Given the description of an element on the screen output the (x, y) to click on. 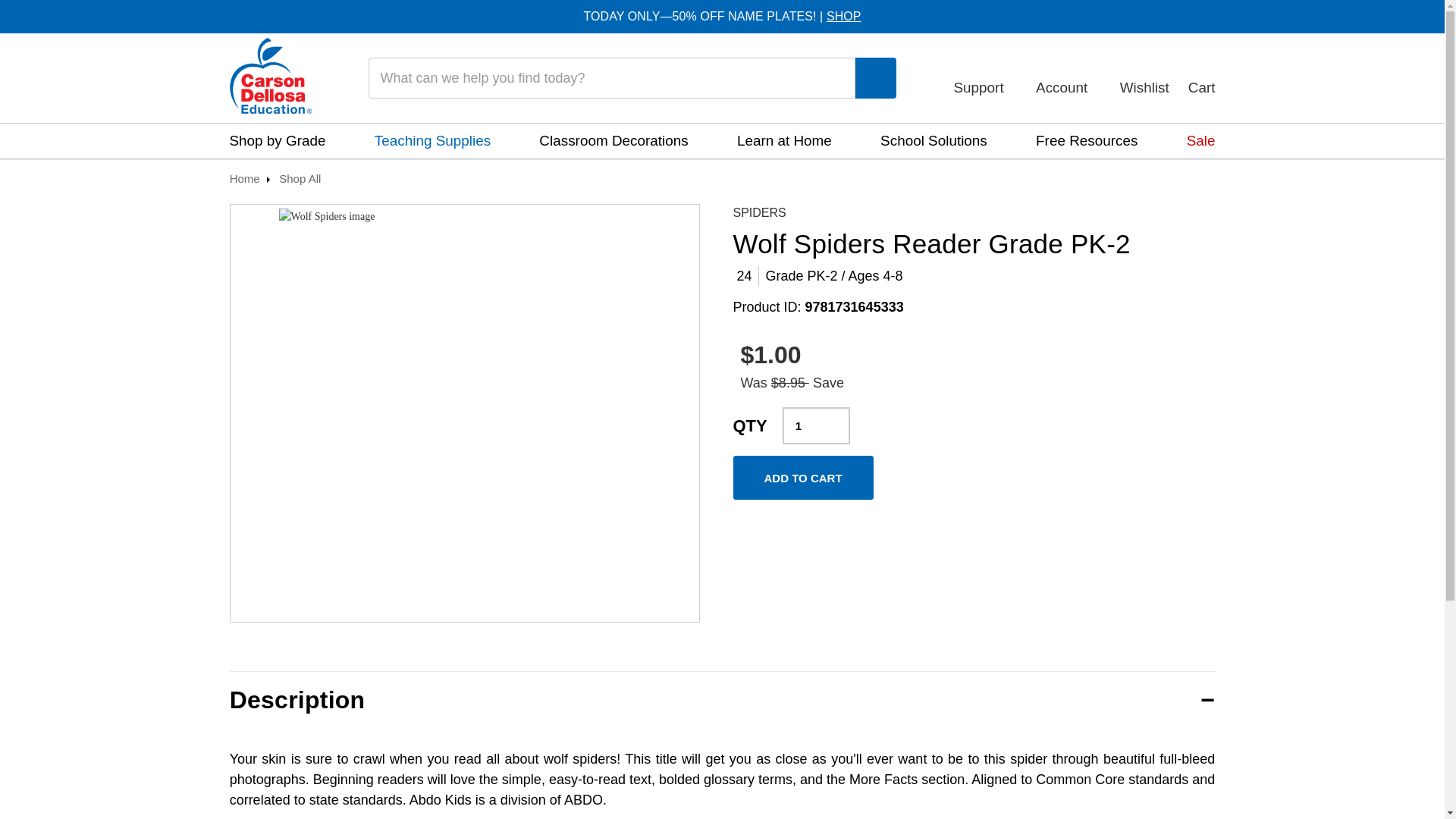
Teaching Supplies (432, 140)
search (875, 78)
Support (984, 77)
Carson Dellosa Education (269, 77)
Add to Cart (802, 477)
Account (1067, 77)
search (876, 77)
1 (816, 425)
Carson Dellosa Education (269, 75)
